Given the description of an element on the screen output the (x, y) to click on. 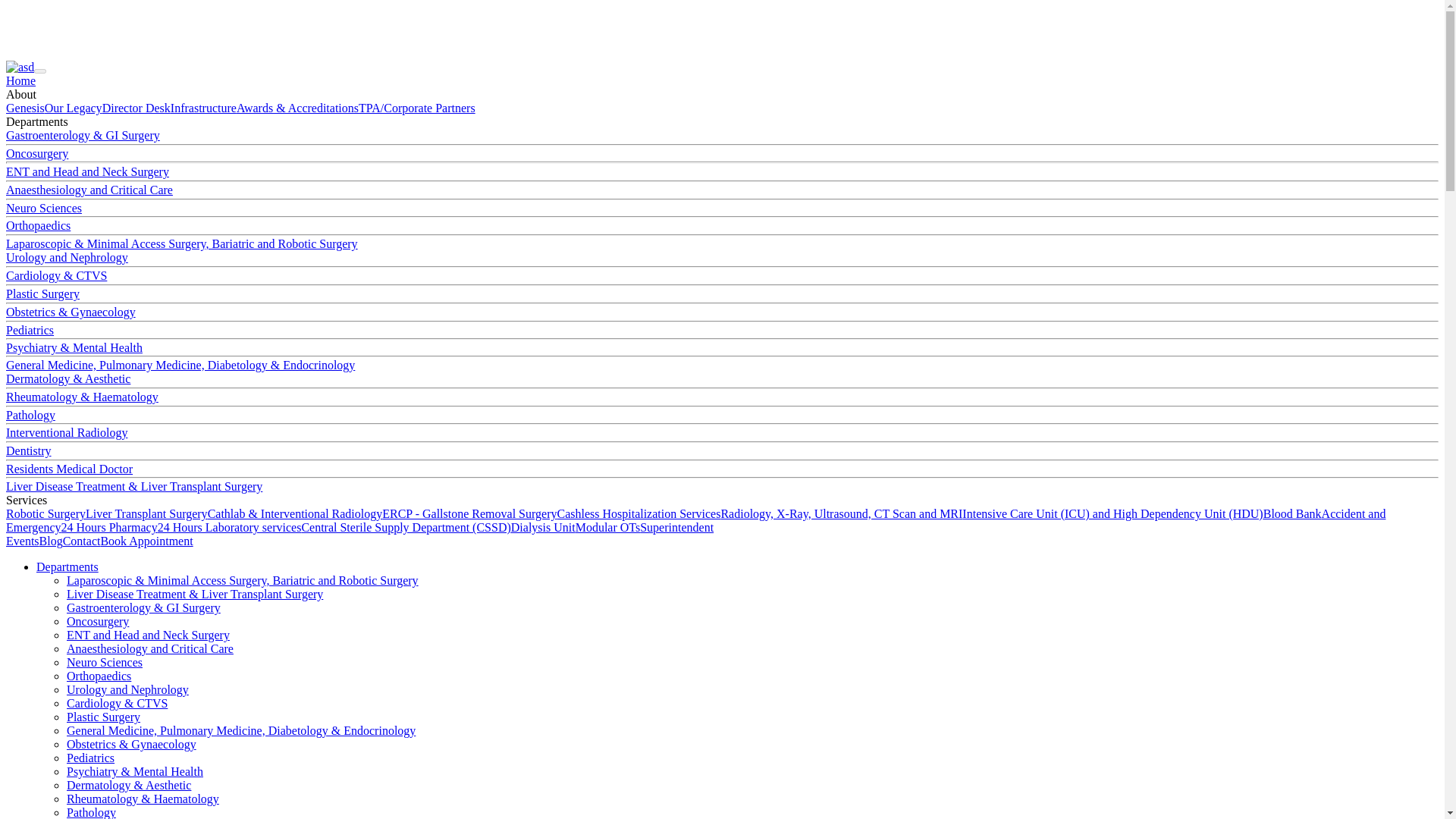
Services (25, 499)
Departments (36, 121)
Dentistry (27, 450)
Residents Medical Doctor (68, 468)
About (20, 93)
Neuro Sciences (43, 207)
Genesis (25, 107)
Interventional Radiology (66, 431)
Home (19, 80)
Maligaon, Guwahati, India (70, 11)
